Given the description of an element on the screen output the (x, y) to click on. 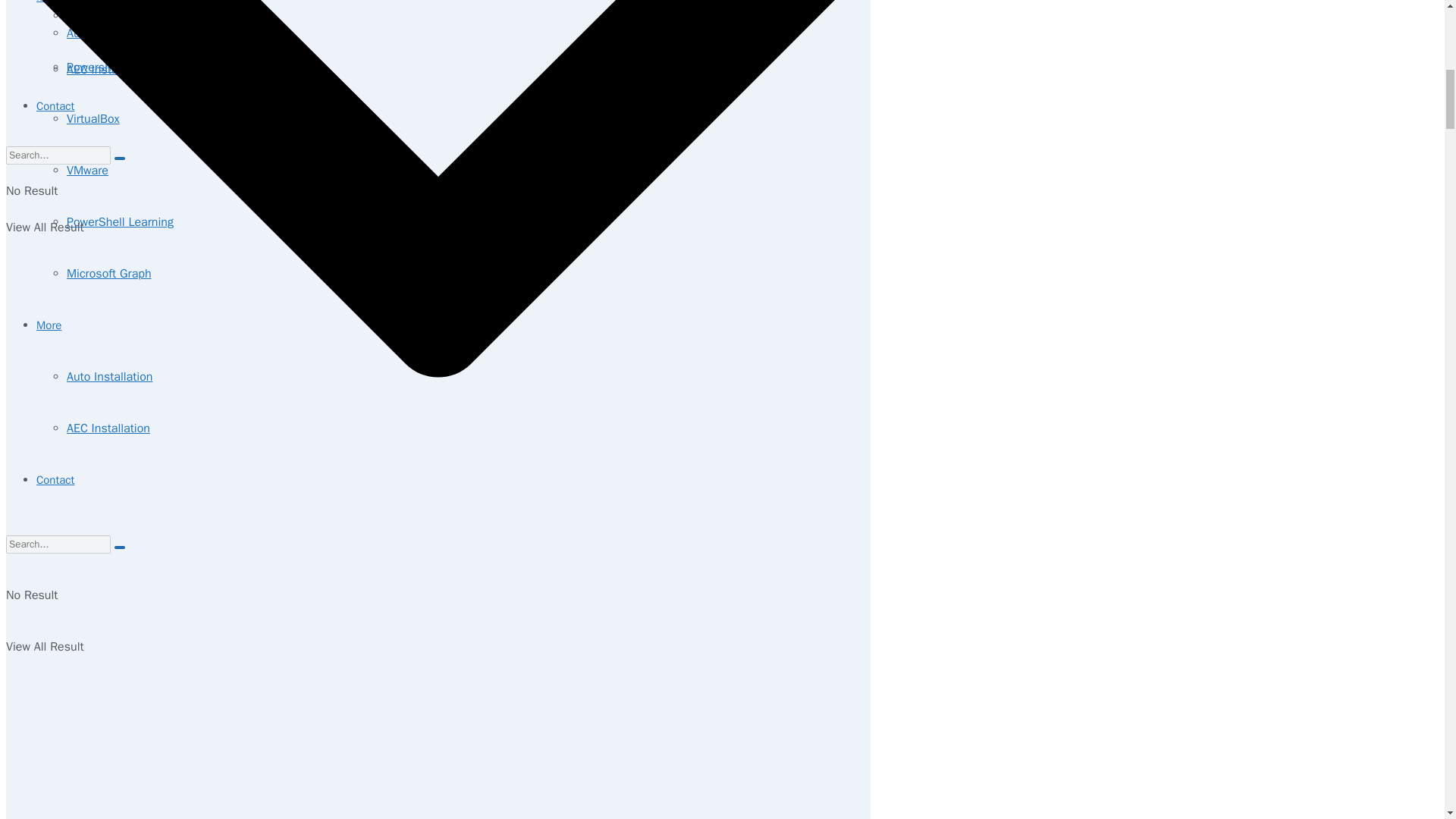
Contact (55, 479)
VMware (86, 170)
Powershell (94, 67)
Microsoft Azure (107, 15)
AEC Installation (107, 427)
PowerShell Learning (119, 222)
VirtualBox (92, 118)
Microsoft Graph (108, 273)
More (48, 325)
Auto Installation (109, 376)
